Given the description of an element on the screen output the (x, y) to click on. 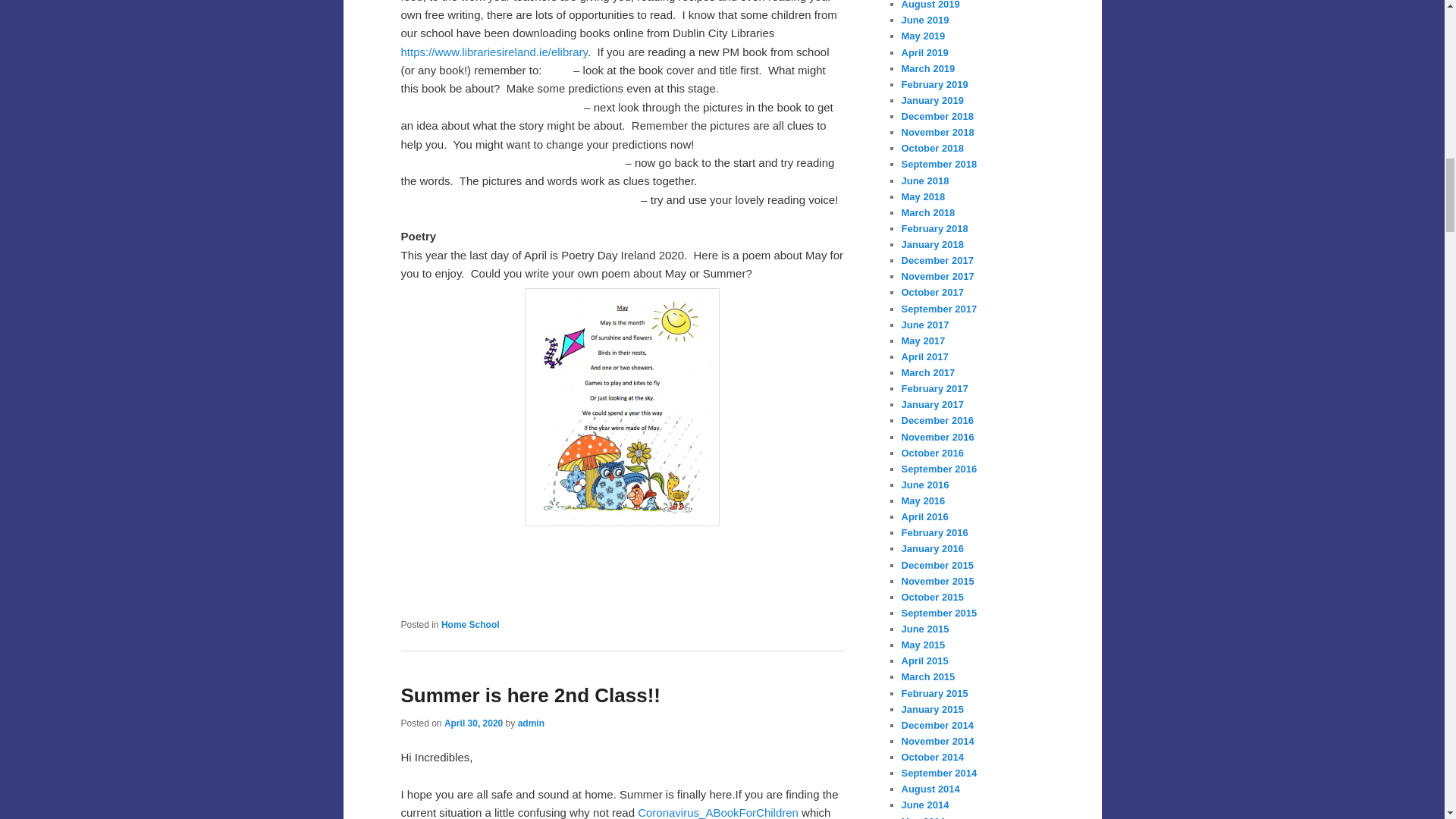
Home School (470, 624)
admin (531, 723)
April 30, 2020 (473, 723)
Summer is here 2nd Class!! (529, 694)
6:20 pm (473, 723)
View all posts by admin (531, 723)
